Given the description of an element on the screen output the (x, y) to click on. 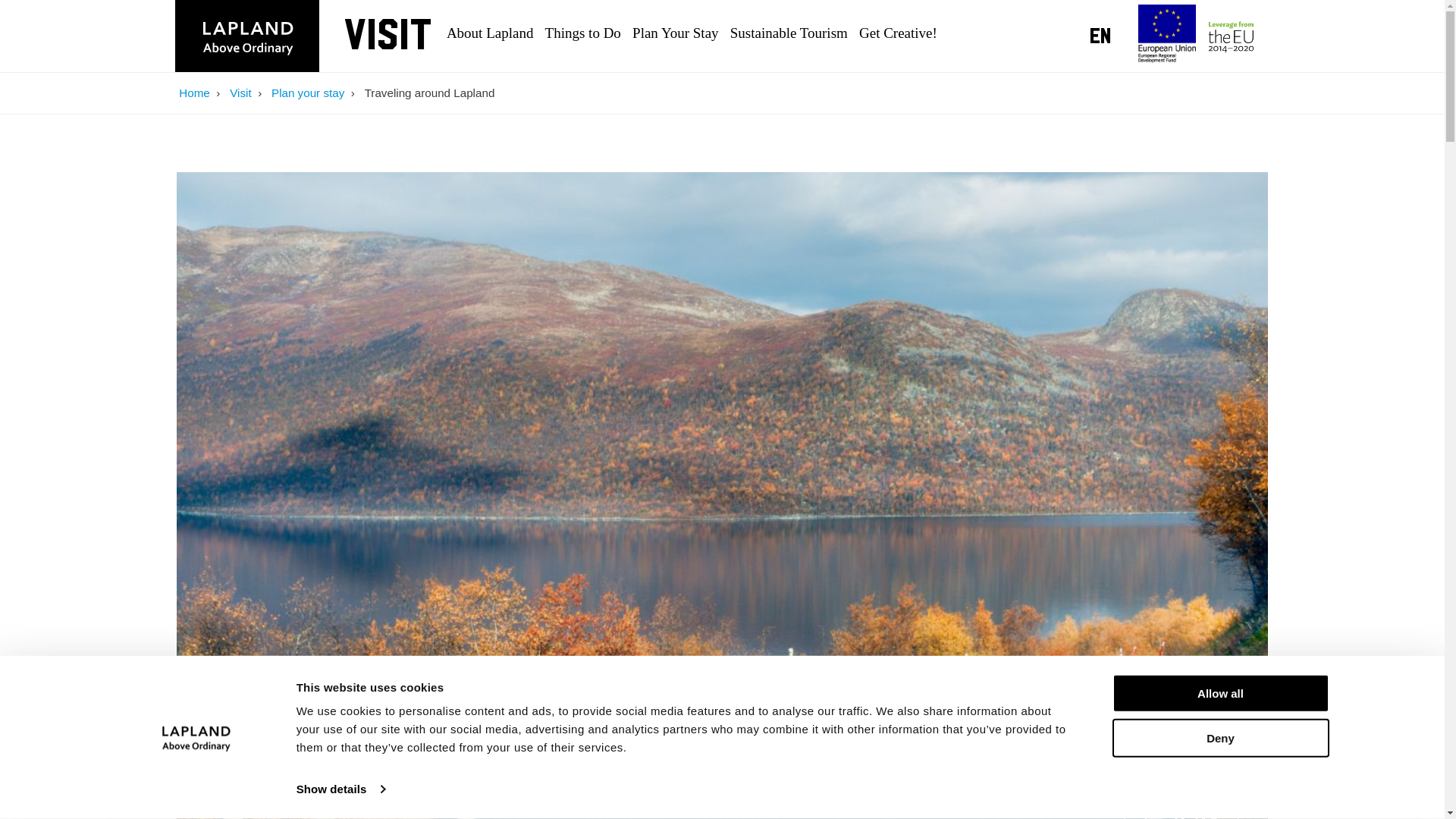
Show details (340, 789)
